Given the description of an element on the screen output the (x, y) to click on. 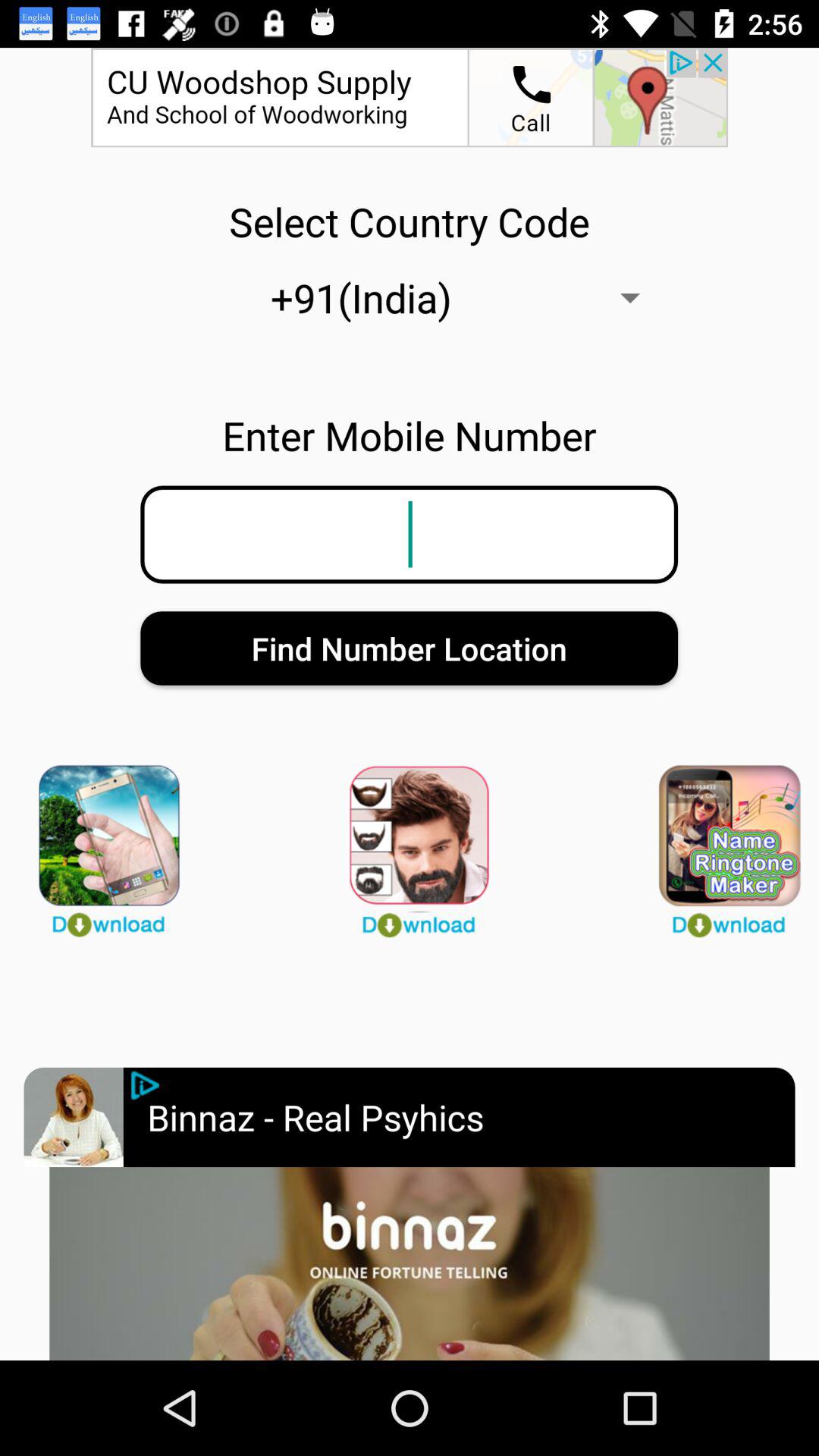
open advertisement (409, 1263)
